Given the description of an element on the screen output the (x, y) to click on. 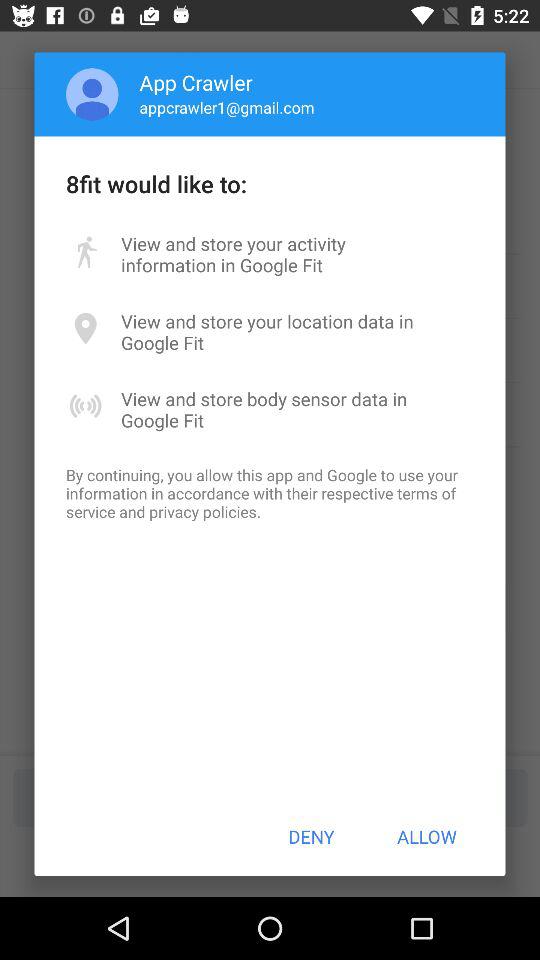
press the app to the left of the app crawler (92, 94)
